Given the description of an element on the screen output the (x, y) to click on. 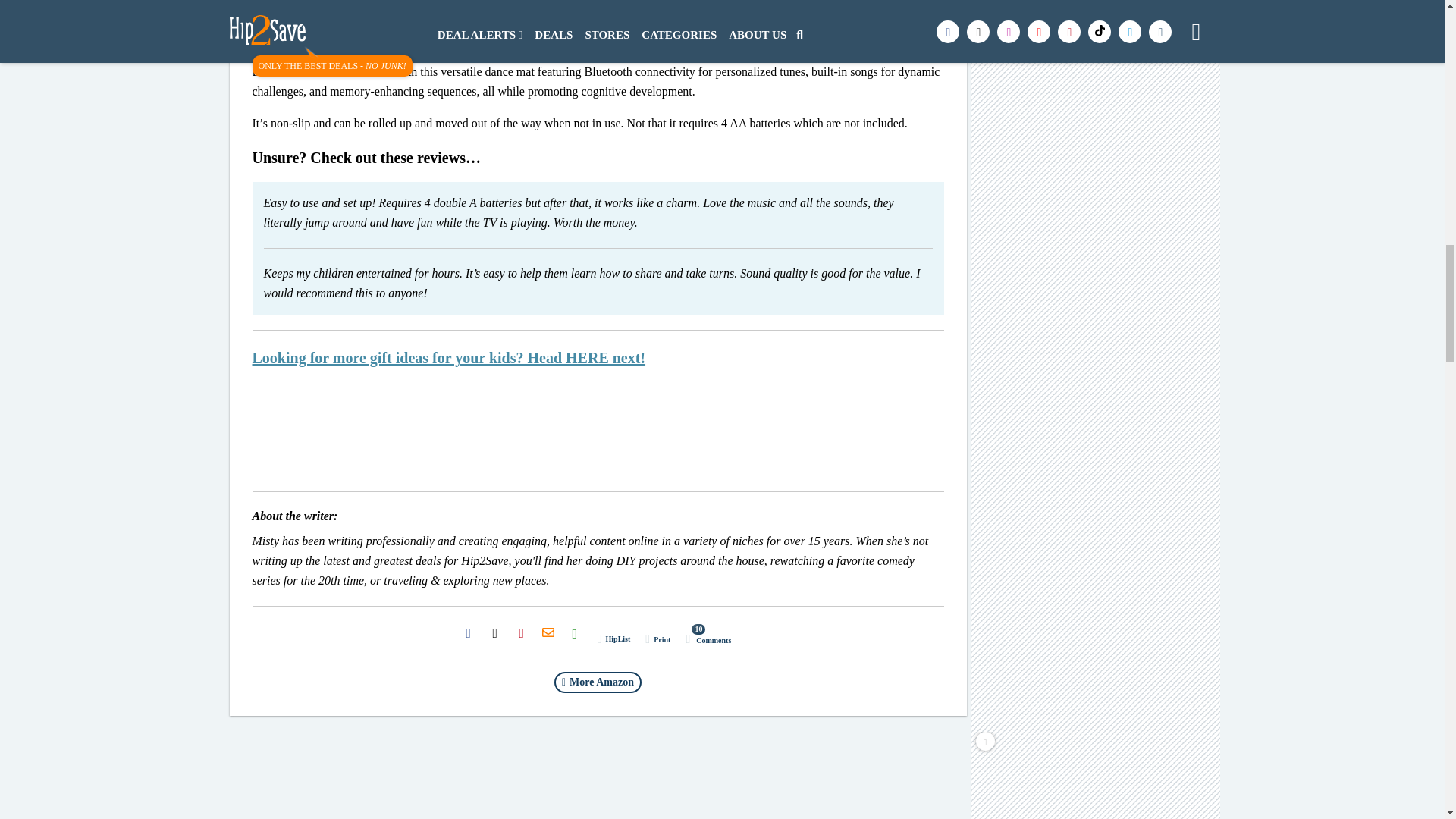
Click to share on SMS (574, 633)
